Given the description of an element on the screen output the (x, y) to click on. 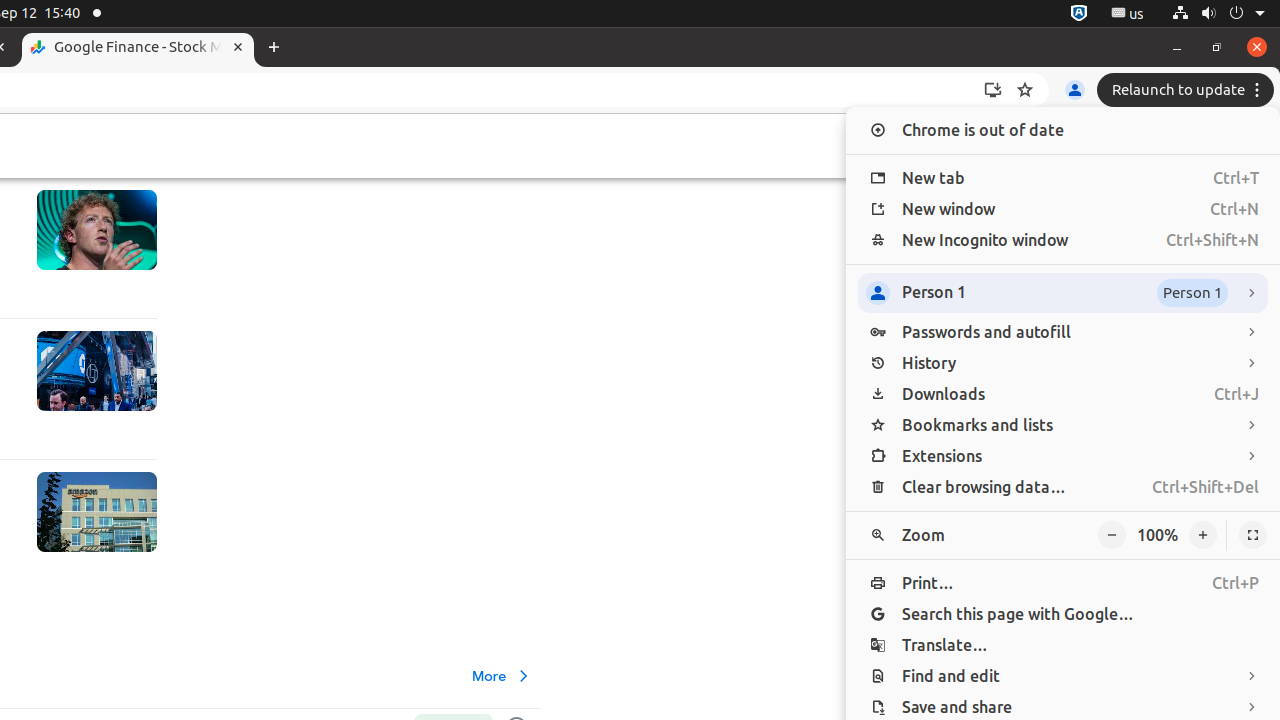
Clear browsing data… Ctrl+Shift+Del Element type: menu-item (1063, 487)
Find and edit Element type: menu-item (1063, 676)
Bookmarks and lists Element type: menu-item (1063, 425)
Full screen F11 Element type: menu-item (1253, 535)
New tab Ctrl+T Element type: menu-item (1063, 178)
